Given the description of an element on the screen output the (x, y) to click on. 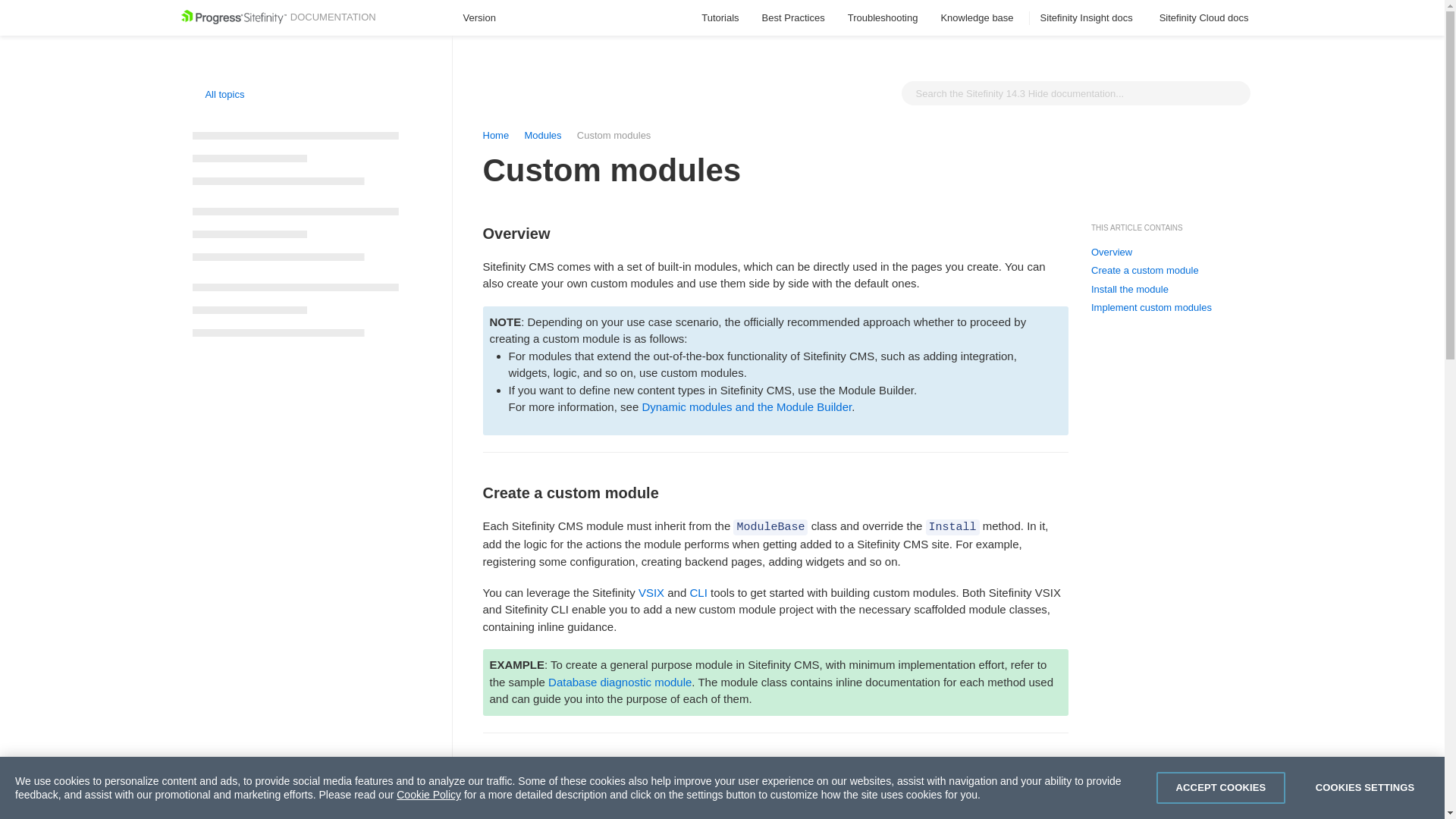
Sitefinity Cloud docs (1205, 18)
All topics (218, 93)
Overview (1111, 252)
VSIX (651, 592)
Home (494, 134)
Install the module (1129, 289)
Create a custom module (774, 447)
Tutorials (719, 18)
CLI (697, 592)
Database diagnostic module (619, 681)
Implement custom modules (1150, 307)
Create a custom module (1144, 270)
Dynamic modules and the Module Builder (745, 406)
Version (486, 18)
Knowledge base (977, 18)
